Given the description of an element on the screen output the (x, y) to click on. 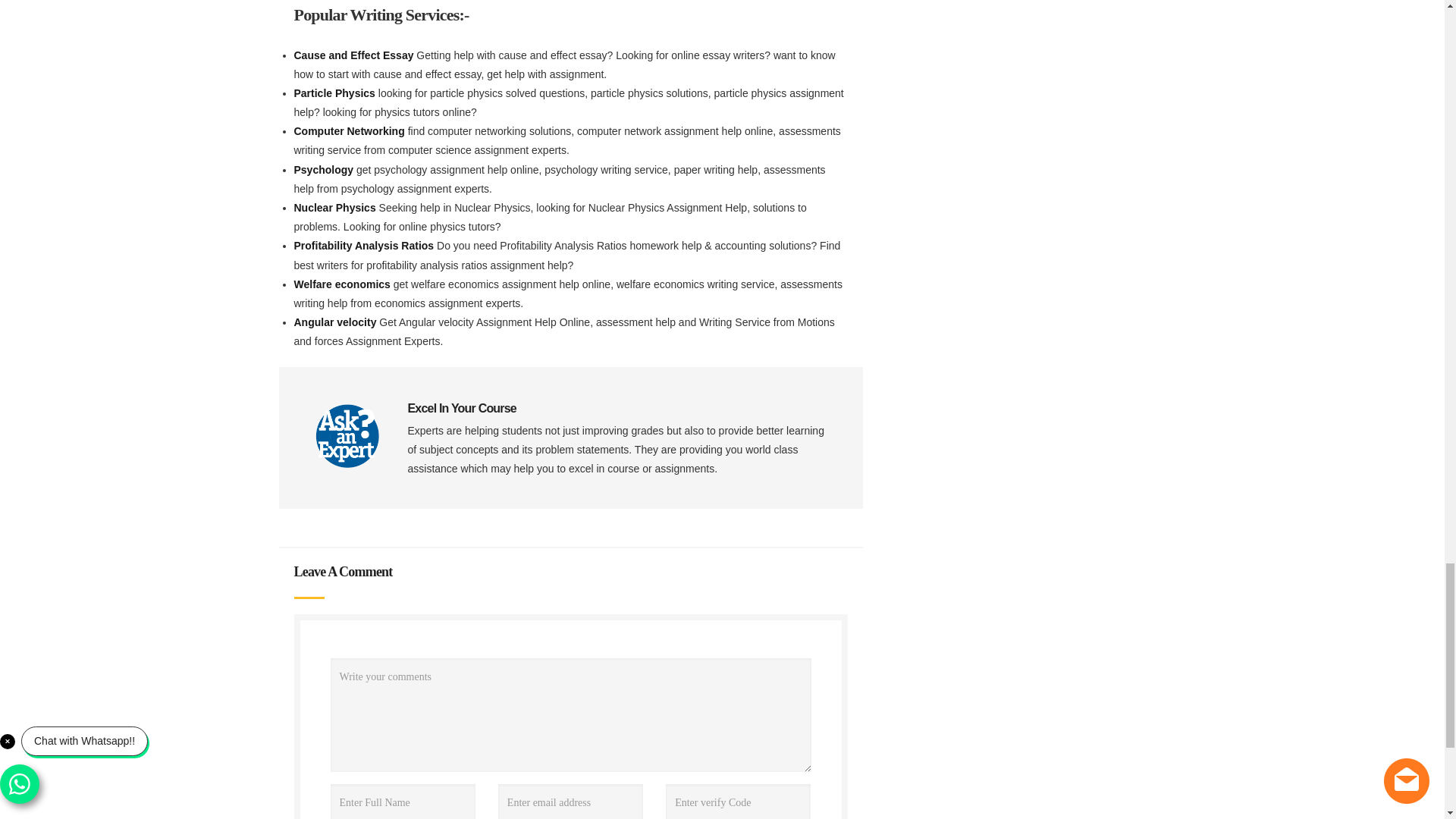
Particle Physics (336, 92)
Psychology (325, 169)
Cause and Effect Essay (355, 55)
Psychology (325, 169)
Angular velocity (337, 322)
Welfare economics (343, 284)
Computer Networking (350, 131)
Computer Networking (350, 131)
Angular velocity (337, 322)
Nuclear Physics (336, 207)
Profitability Analysis Ratios (366, 245)
Welfare economics (343, 284)
Particle Physics (336, 92)
Nuclear Physics (336, 207)
Cause and Effect Essay (355, 55)
